Given the description of an element on the screen output the (x, y) to click on. 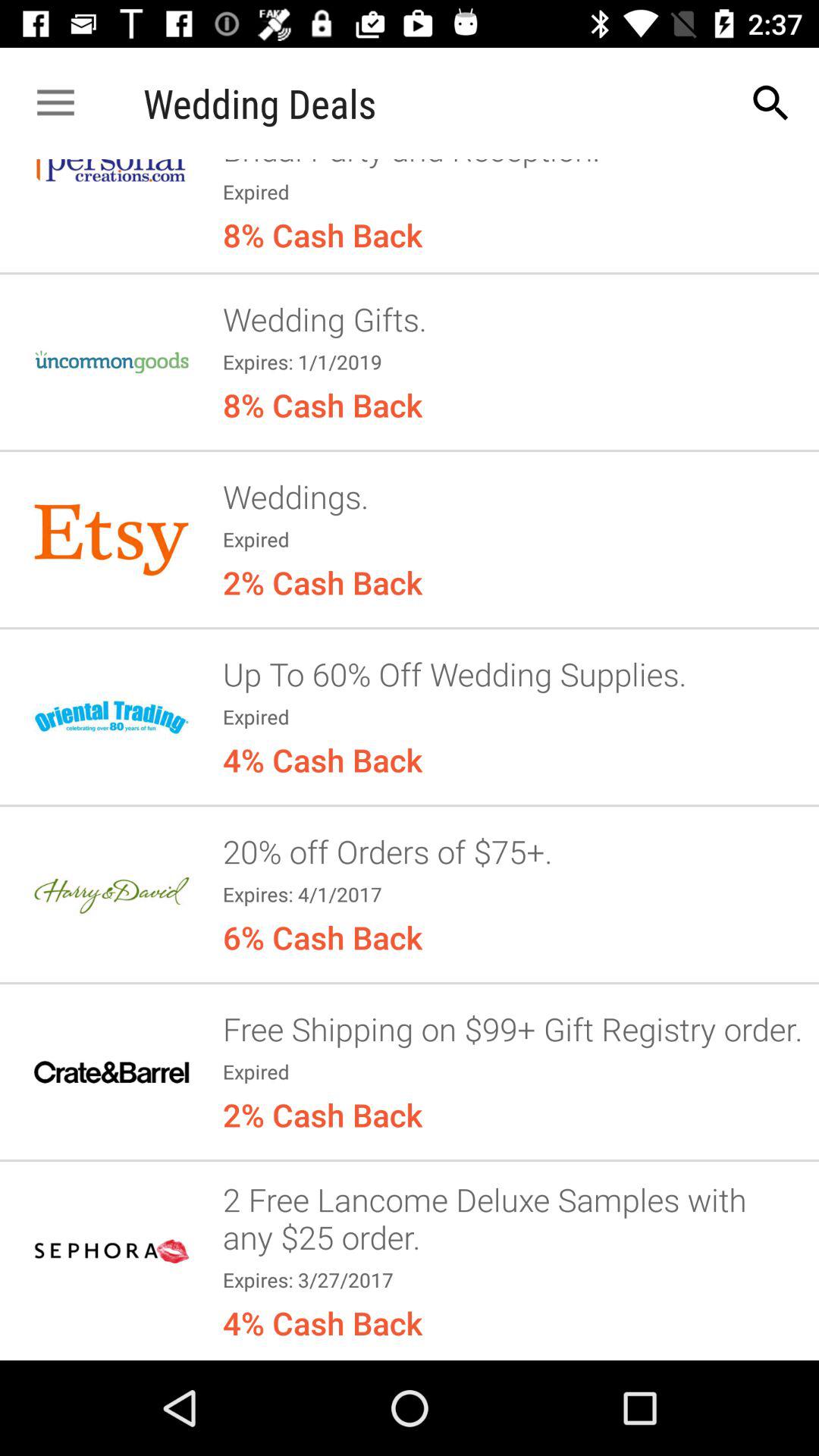
click the item to the right of the wedding deals app (771, 103)
